Given the description of an element on the screen output the (x, y) to click on. 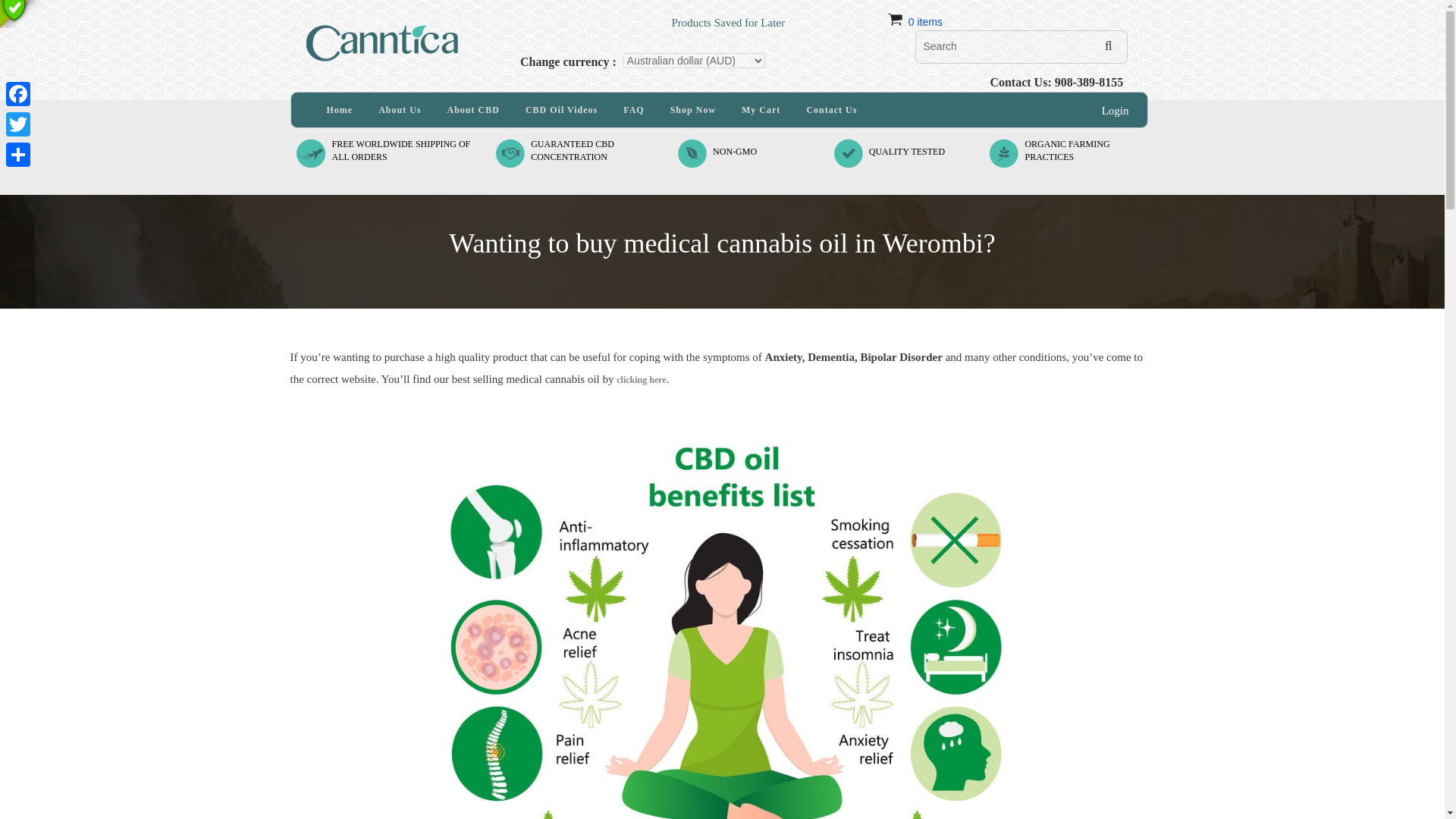
QUALITY TESTED (906, 151)
About CBD (472, 109)
View your shopping cart (925, 21)
Facebook (17, 93)
Shop Now (693, 109)
CBD Oil Videos (1067, 150)
Login (561, 109)
NON-GMO (1115, 110)
About Us (735, 151)
